Given the description of an element on the screen output the (x, y) to click on. 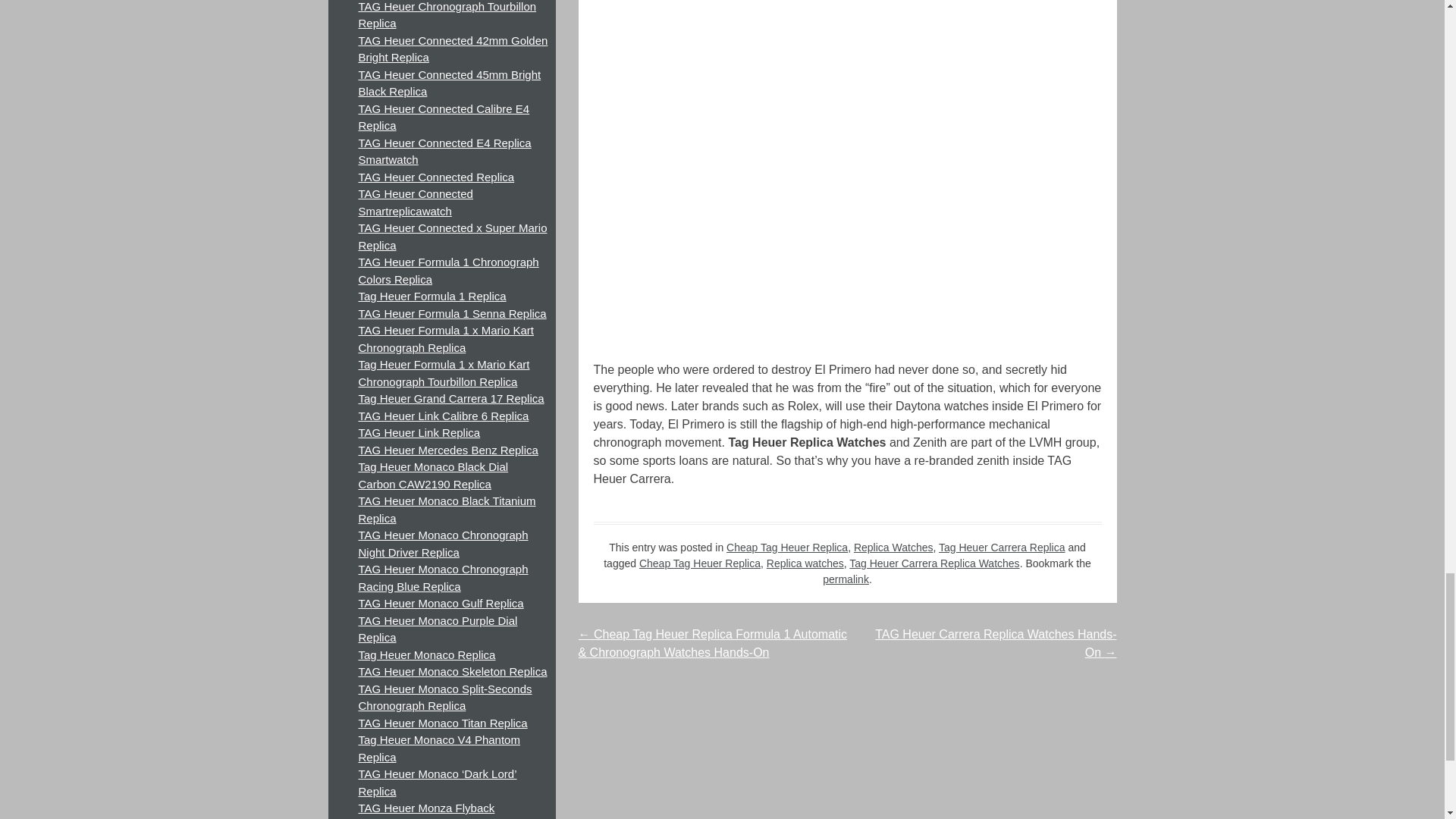
Tag Heuer Carrera Replica (1002, 547)
Cheap Tag Heuer Replica (786, 547)
Tag Heuer Carrera Replica Watches (933, 563)
Replica Watches (893, 547)
Replica watches (805, 563)
Cheap Tag Heuer Replica (699, 563)
permalink (845, 579)
